Given the description of an element on the screen output the (x, y) to click on. 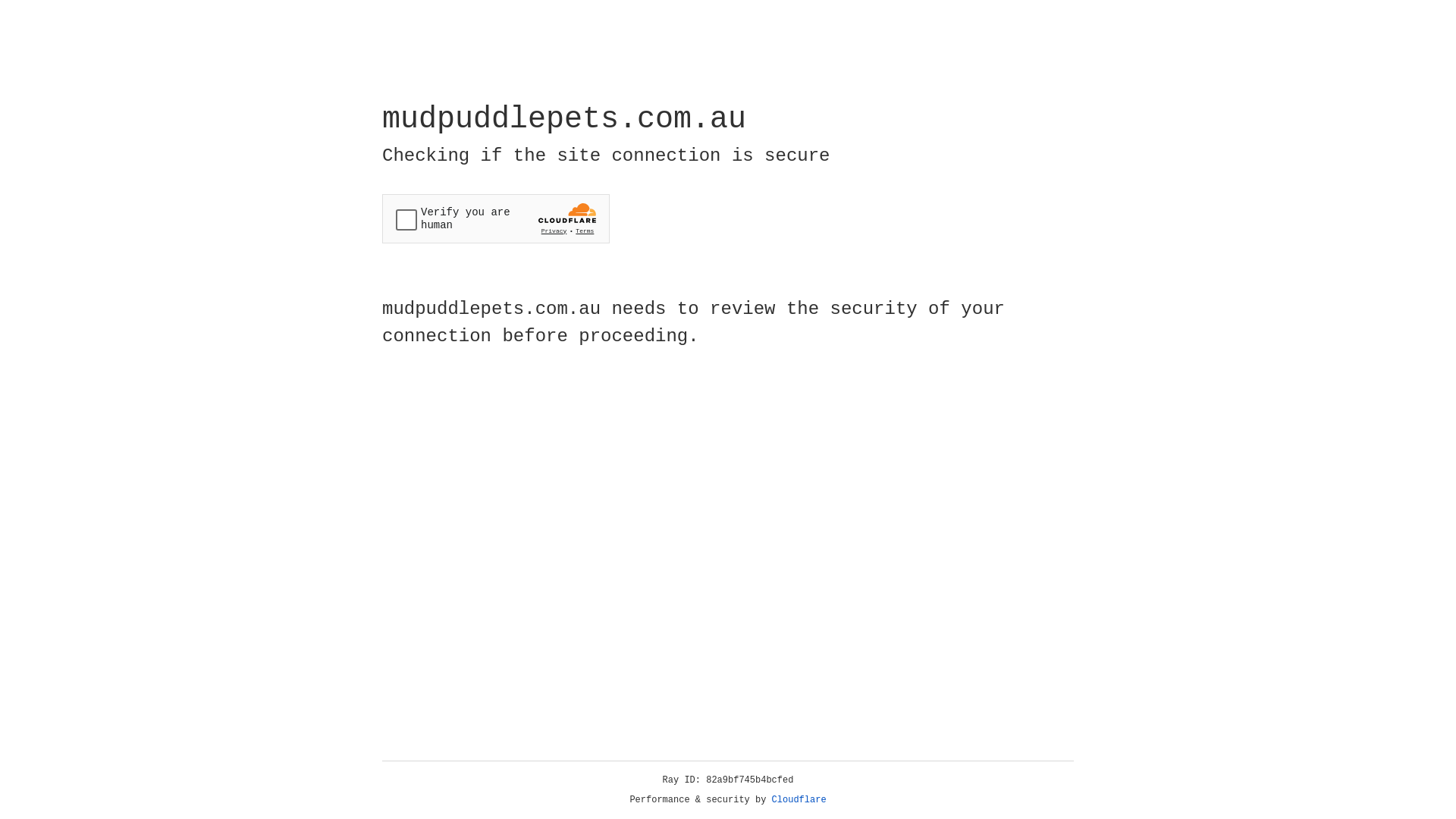
Cloudflare Element type: text (798, 799)
Widget containing a Cloudflare security challenge Element type: hover (495, 218)
